Given the description of an element on the screen output the (x, y) to click on. 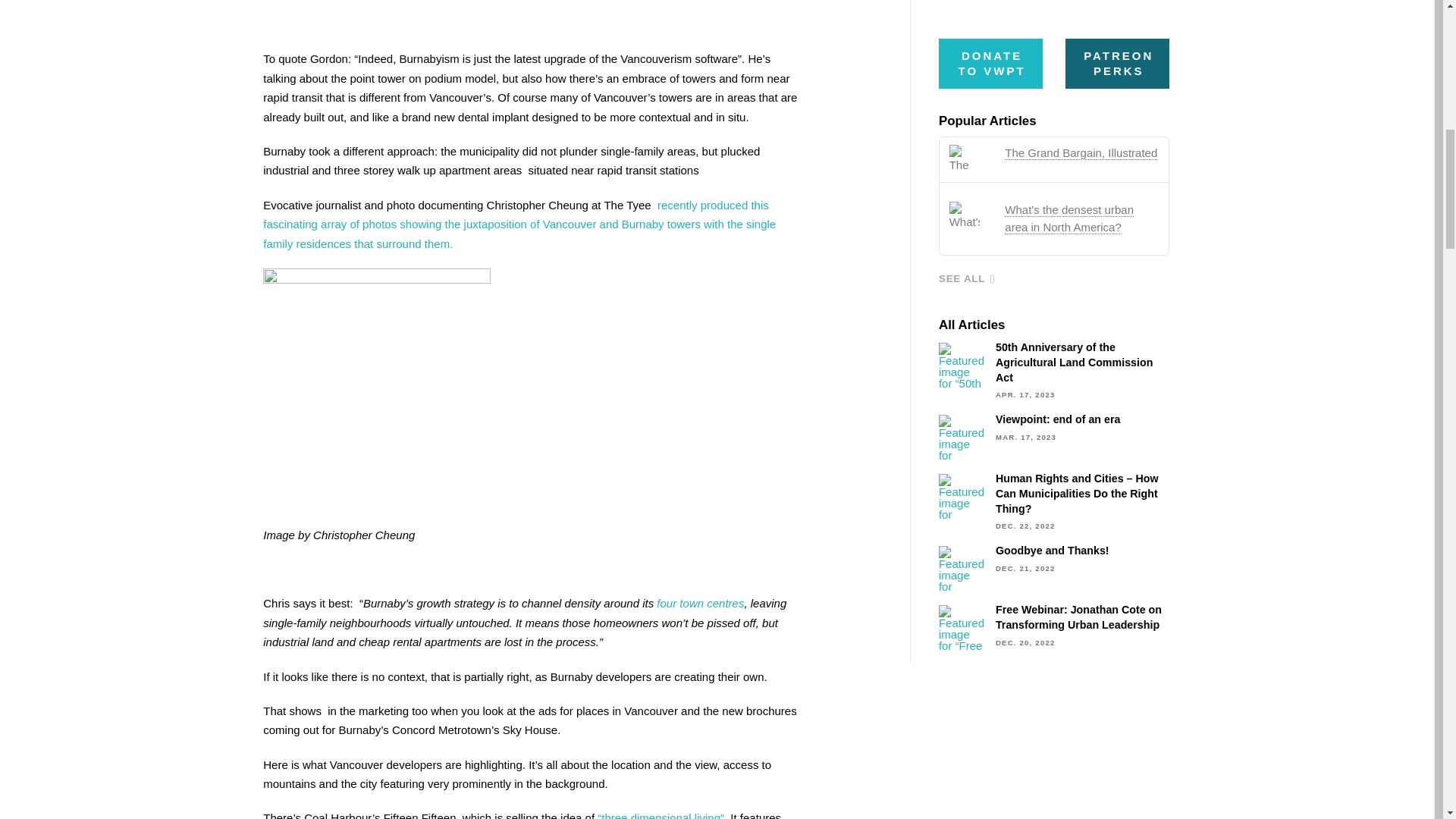
What's the densest urban area in North America? (1069, 218)
The Grand Bargain, Illustrated (1080, 152)
four town centres (700, 603)
